Given the description of an element on the screen output the (x, y) to click on. 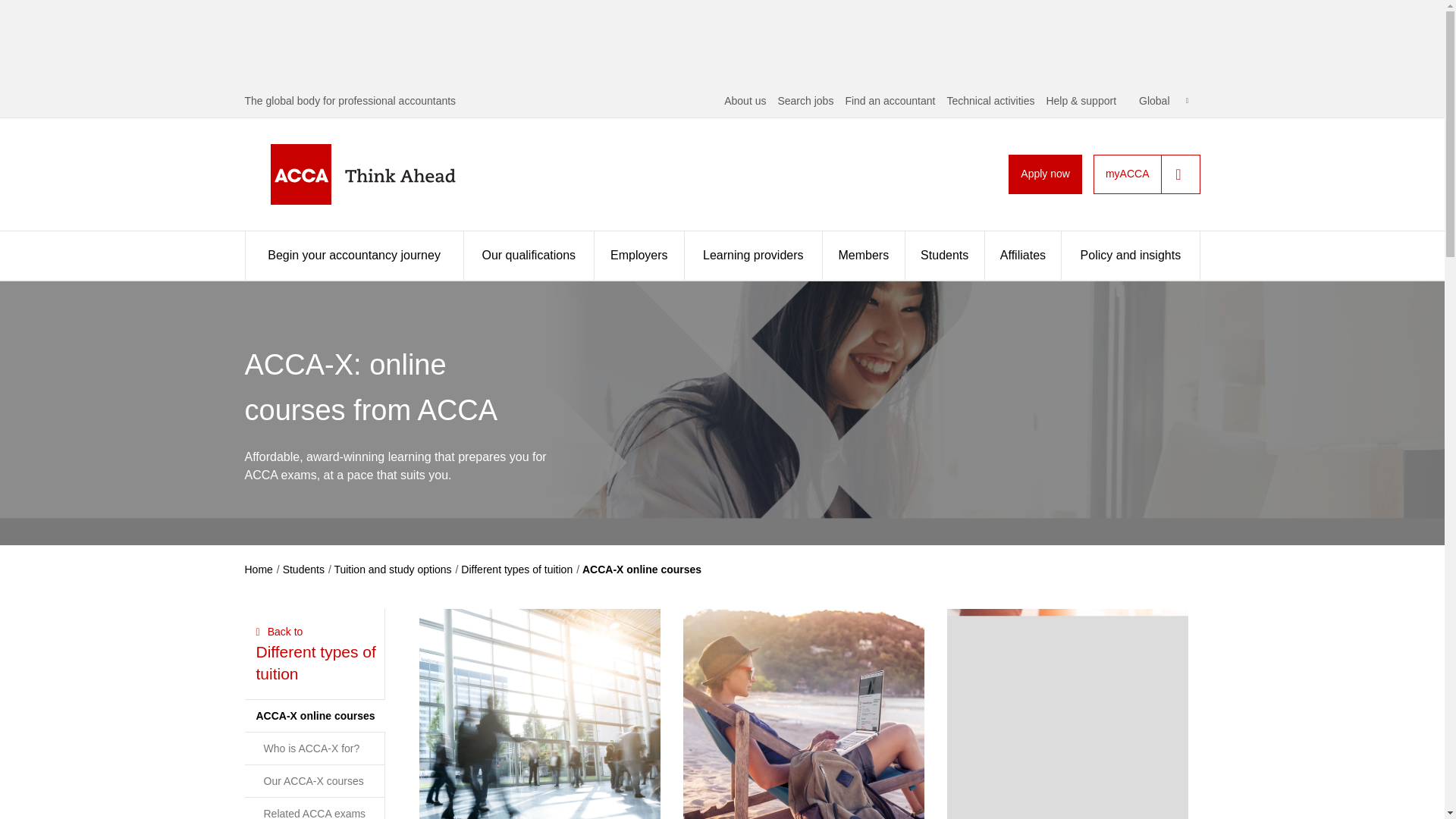
About us (744, 101)
Search jobs (804, 101)
What is ACCA-X? (539, 714)
Check out the ACCA-X courses (803, 714)
Global (1162, 100)
Find an accountant (889, 101)
Technical activities (989, 101)
Related ACCA exams and awards (1067, 714)
Global (1162, 100)
ACCA - Think Ahead (387, 174)
